Given the description of an element on the screen output the (x, y) to click on. 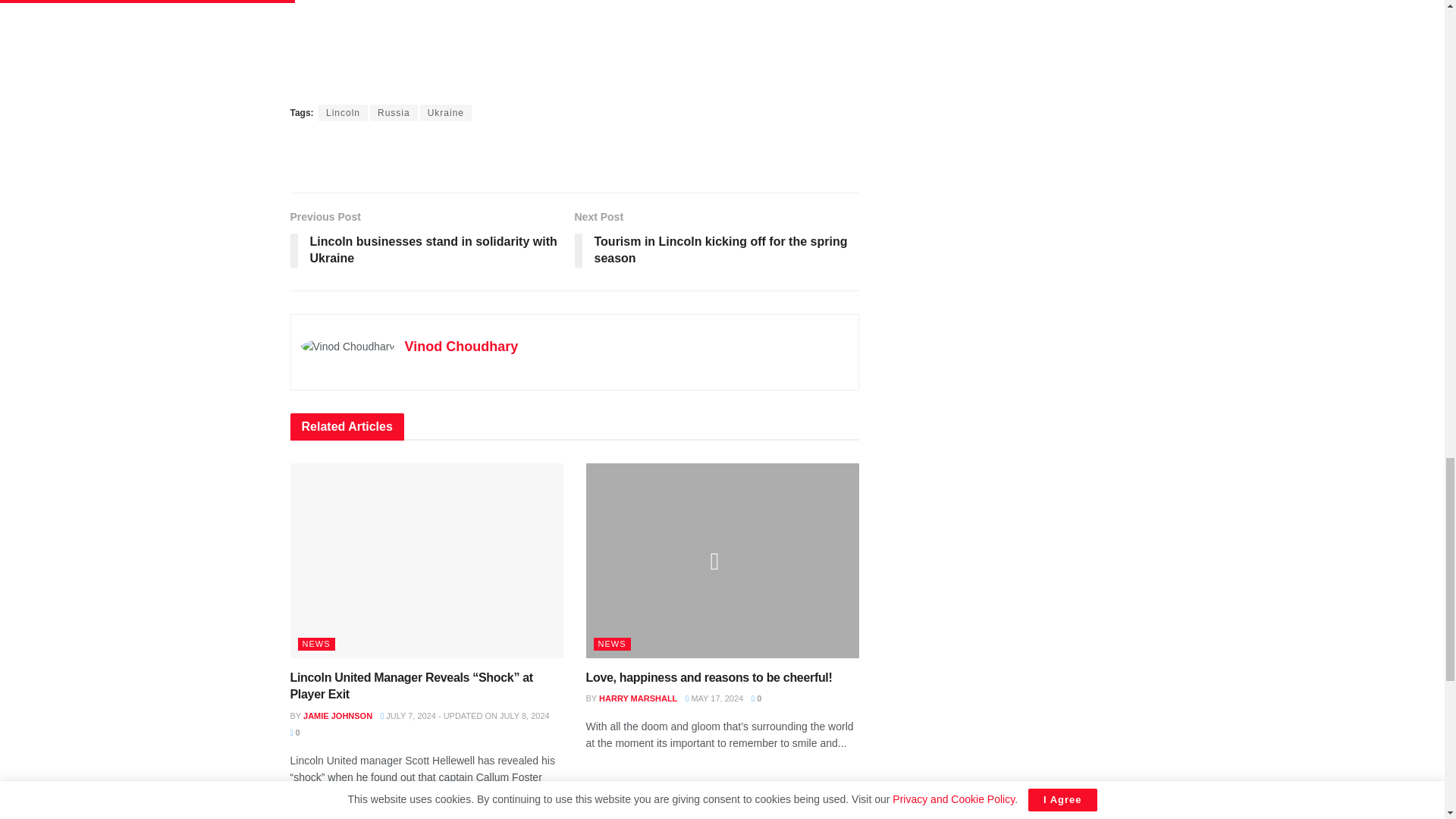
"It made me believe in humanity" (574, 43)
